Given the description of an element on the screen output the (x, y) to click on. 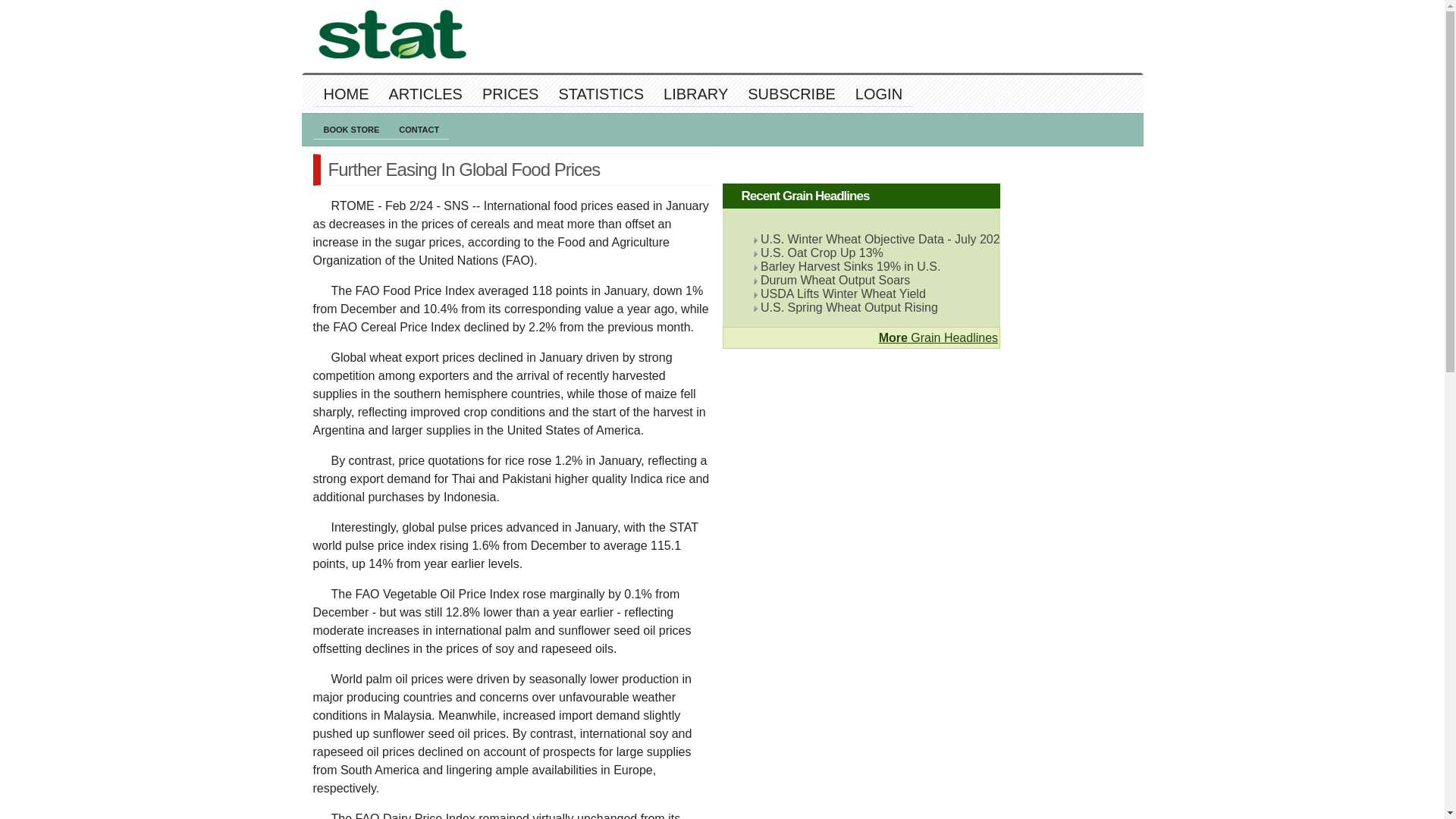
CONTACT (418, 129)
Current market news (424, 94)
LIBRARY (695, 94)
U.S. Winter Wheat Objective Data - July 202 (880, 238)
PRICES (509, 94)
More Grain Headlines (938, 337)
ARTICLES (424, 94)
Permalink to U.S. Spring Wheat Output Rising (848, 307)
Exports and supply-demand analysis (600, 94)
Permalink to USDA Lifts Winter Wheat Yield (843, 293)
SUBSCRIBE (791, 94)
HOME (346, 94)
Permalink to Durum Wheat Output Soars (835, 279)
Downloadable and online books and reports (695, 94)
Permalink to U.S. Winter Wheat Objective Data - July 202 (880, 238)
